Given the description of an element on the screen output the (x, y) to click on. 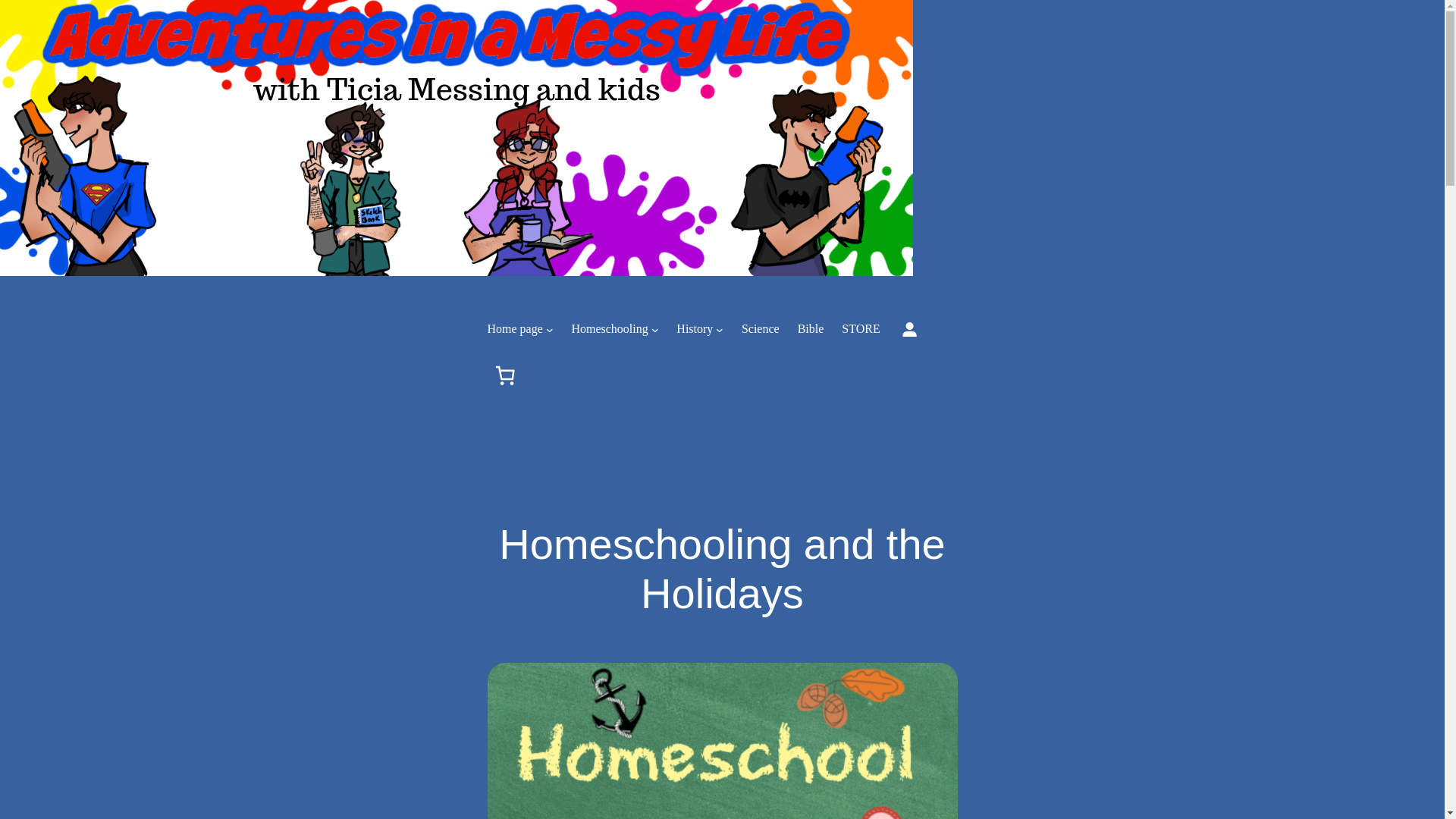
Homeschooling (608, 329)
Bible (810, 329)
Science (759, 329)
STORE (860, 329)
History (695, 329)
Home page (513, 329)
